Given the description of an element on the screen output the (x, y) to click on. 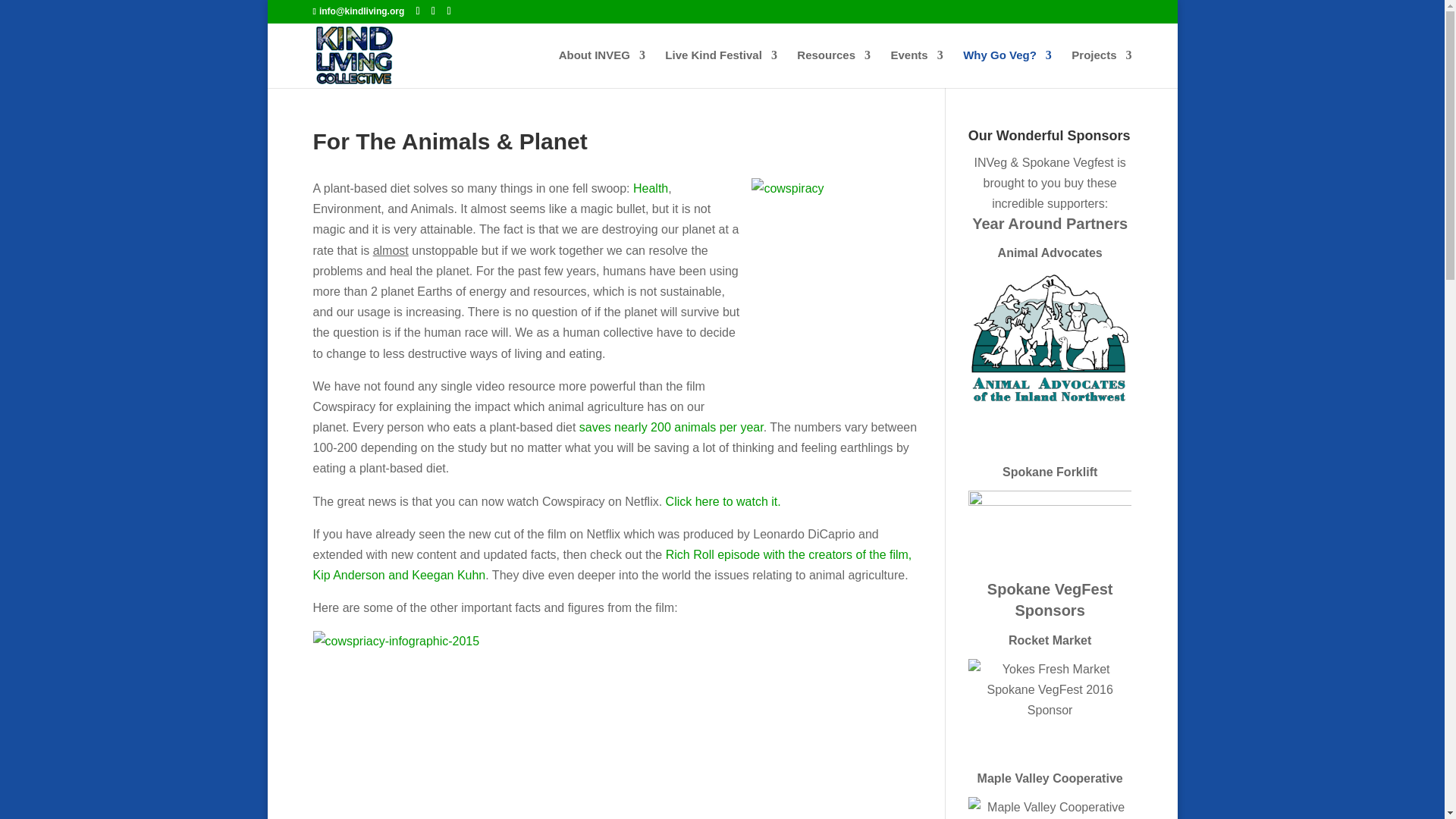
Animal Advocates Spokane VegFest Sponsor (1050, 337)
Resources (833, 68)
About INVEG (602, 68)
Live Kind Festival (721, 68)
